Given the description of an element on the screen output the (x, y) to click on. 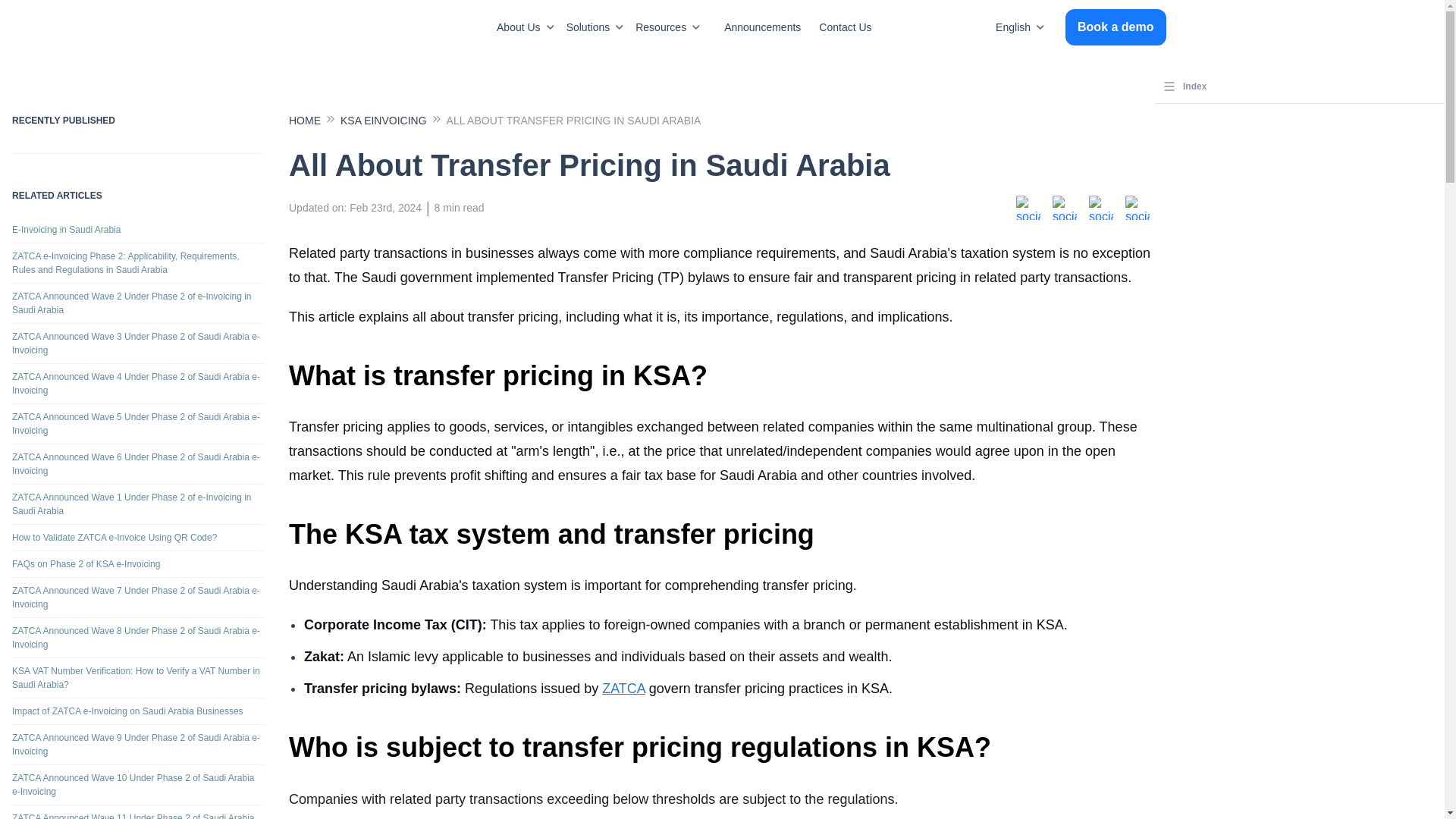
Impact of ZATCA e-Invoicing on Saudi Arabia Businesses (137, 711)
Contact Us (835, 27)
Resources (670, 27)
About Us (528, 27)
Contact Us (835, 27)
How to Validate ZATCA e-Invoice Using QR Code? (137, 537)
